Given the description of an element on the screen output the (x, y) to click on. 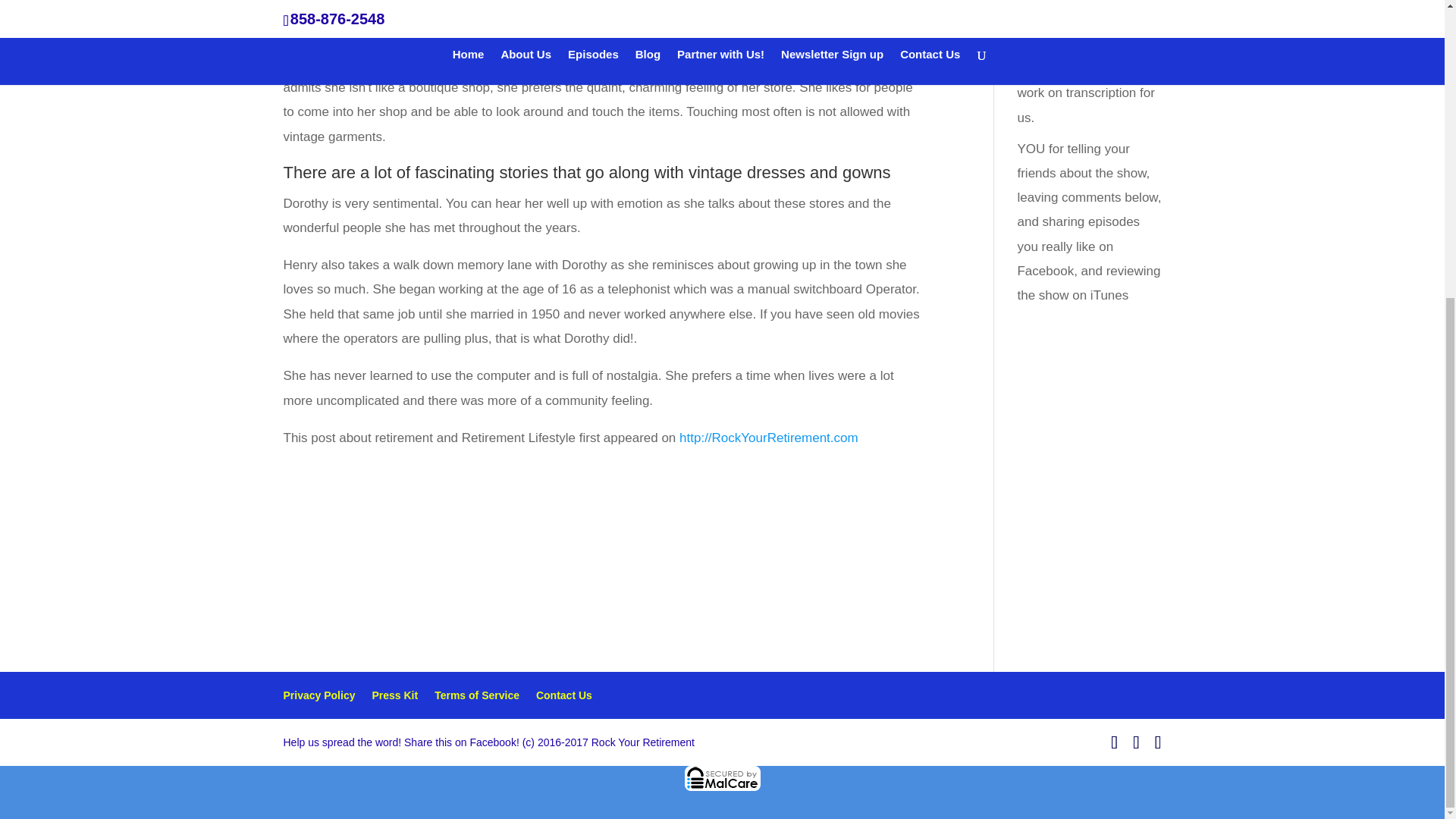
Press Kit (394, 695)
Terms of Service (476, 695)
Contact Us (563, 695)
reviewing the show on iTunes (1088, 282)
Privacy Policy (319, 695)
